Given the description of an element on the screen output the (x, y) to click on. 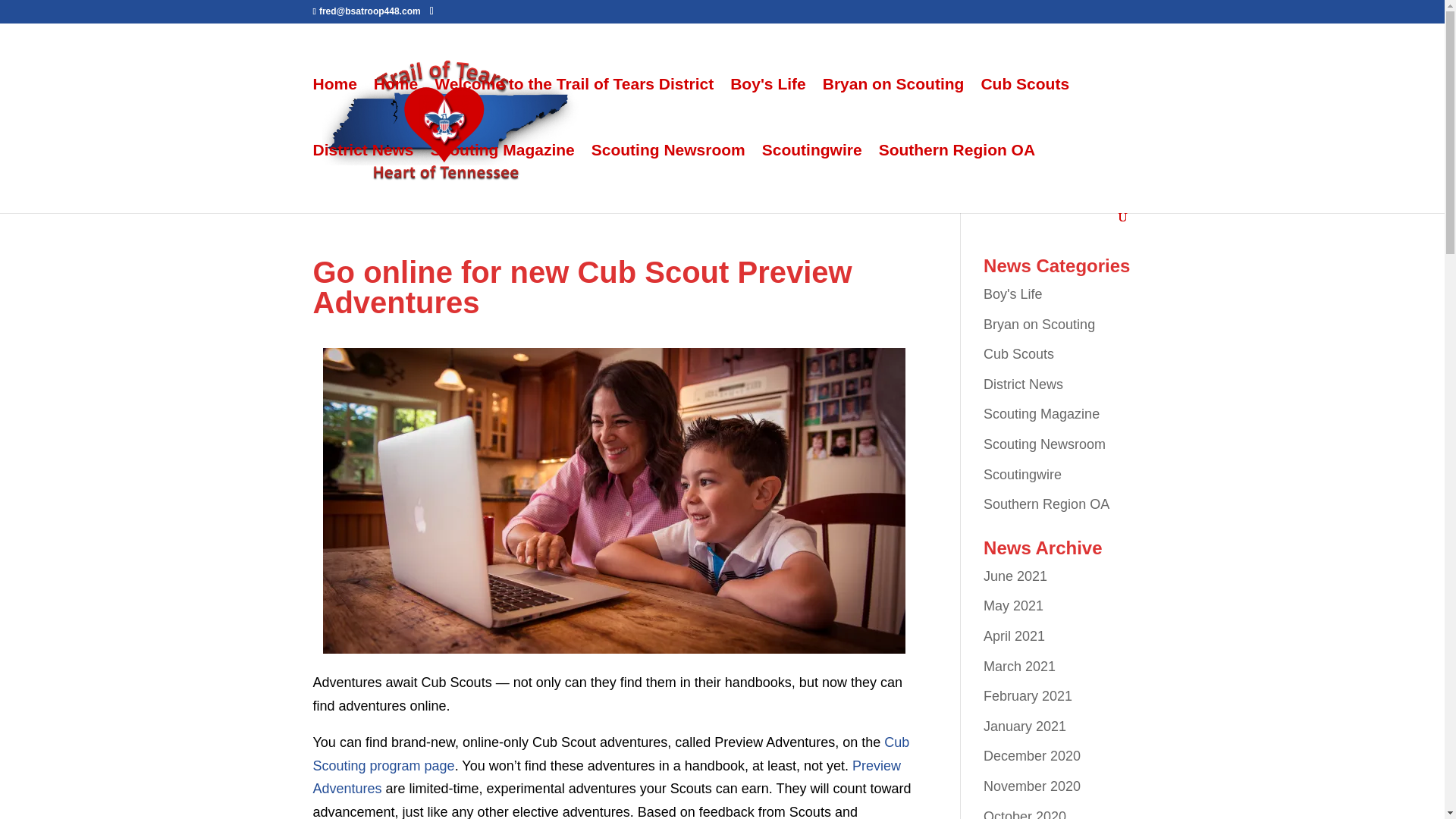
District News (363, 177)
Cub Scouting program page (610, 753)
June 2021 (1015, 575)
Preview Adventures (607, 777)
Southern Region OA (1046, 503)
Scouting Newsroom (1044, 444)
April 2021 (1014, 635)
Welcome to the Trail of Tears District (573, 111)
March 2021 (1019, 666)
Cub Scouts (1023, 111)
